Given the description of an element on the screen output the (x, y) to click on. 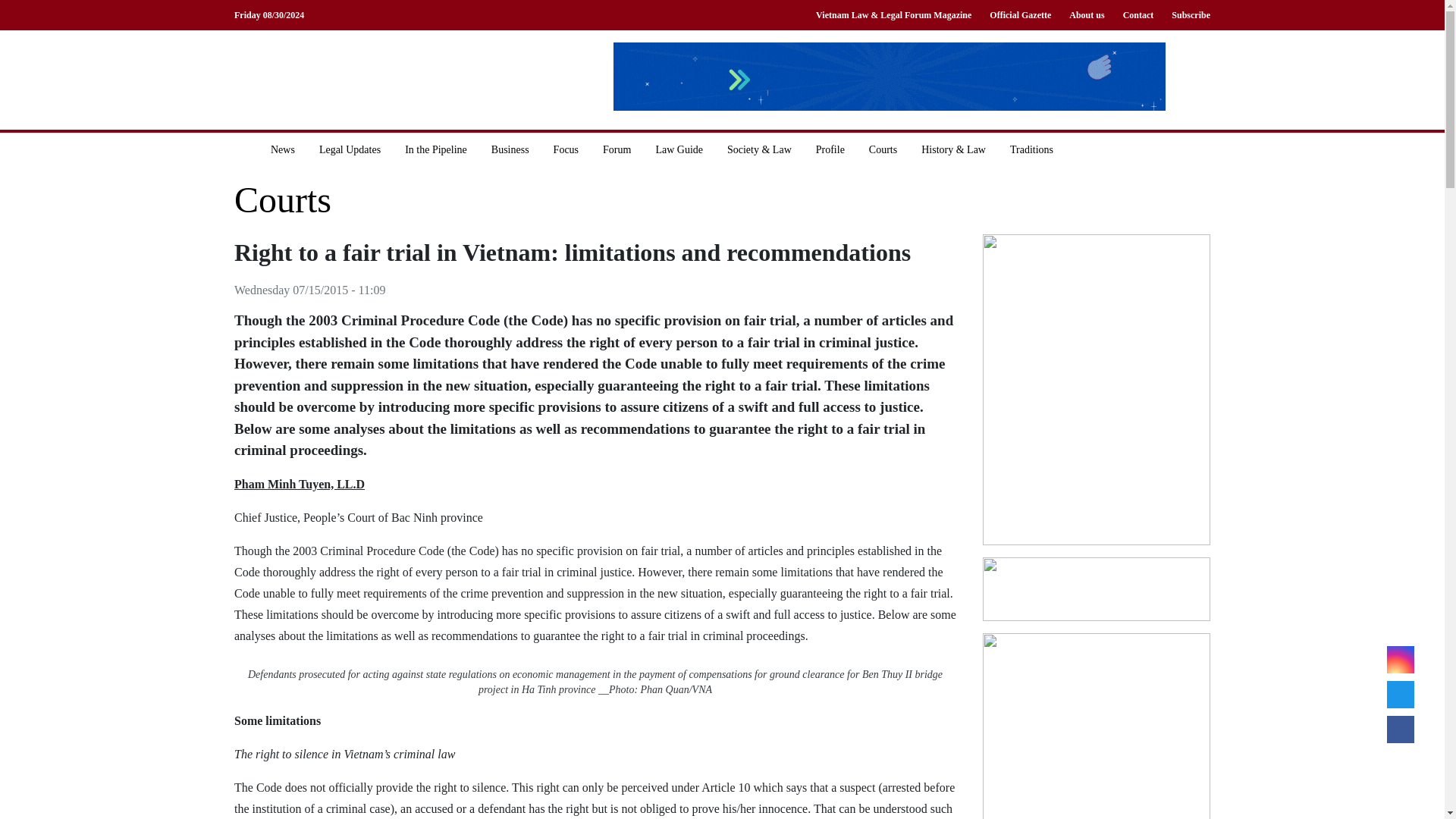
Official Gazette (1019, 15)
Traditions (1031, 149)
Subscribe (1185, 15)
logo (359, 79)
humburger (1197, 149)
icon search (1098, 149)
About us (1086, 15)
home (246, 149)
Profile (830, 149)
In the Pipeline (436, 149)
